Given the description of an element on the screen output the (x, y) to click on. 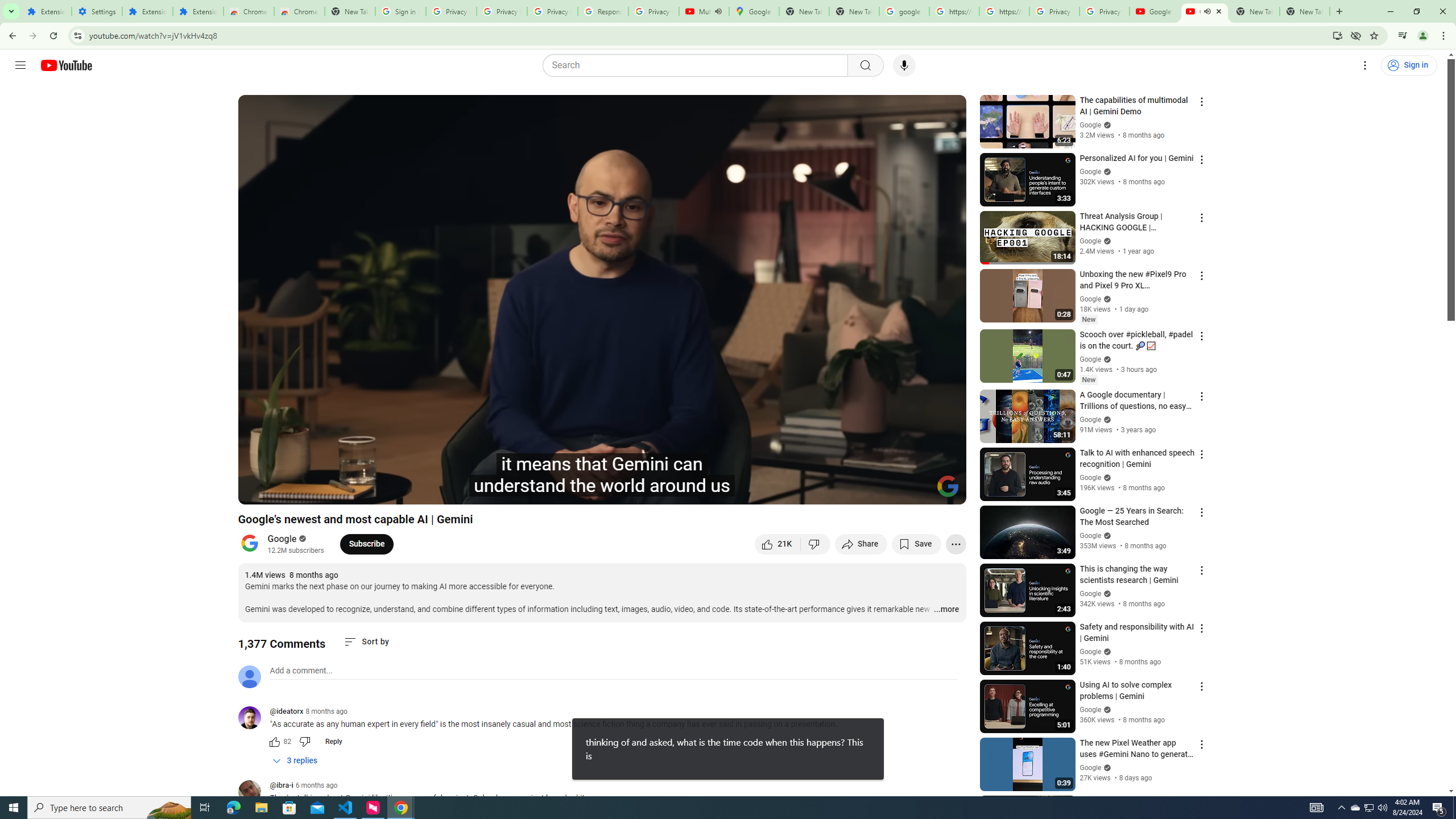
8 months ago (326, 710)
Settings (97, 11)
Default profile photo (248, 676)
Dislike this comment (304, 741)
Extensions (46, 11)
Miniplayer (i) (890, 490)
Next (SHIFT+n) (284, 490)
